Given the description of an element on the screen output the (x, y) to click on. 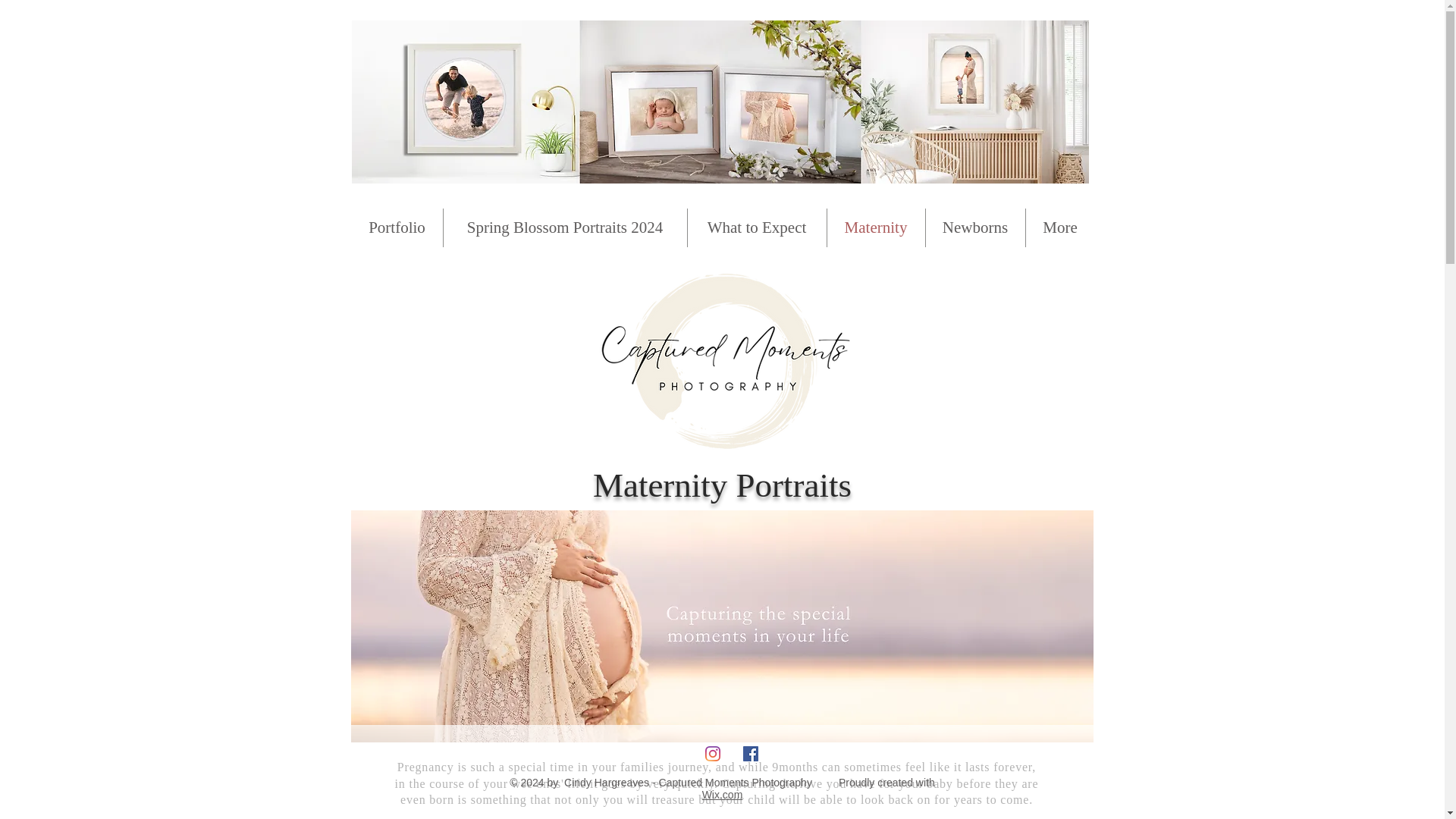
What to Expect (756, 227)
Wix.com (721, 794)
Newborns (974, 227)
Portfolio (397, 227)
Maternity (875, 227)
website banner.jpg (720, 101)
Spring Blossom Portraits 2024 (563, 227)
